Given the description of an element on the screen output the (x, y) to click on. 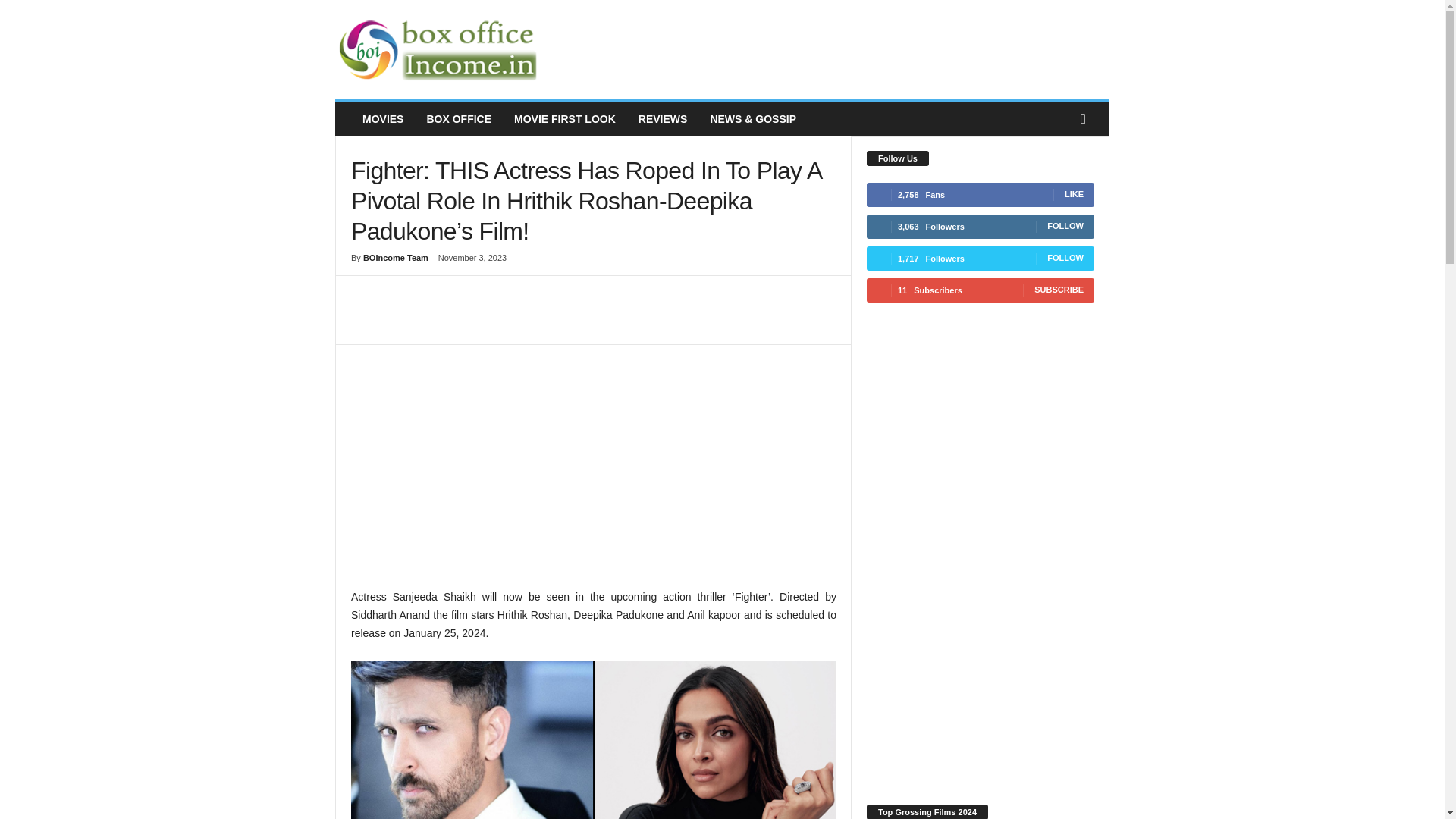
MOVIES (382, 118)
MOVIE FIRST LOOK (564, 118)
BOX OFFICE (458, 118)
REVIEWS (662, 118)
Advertisement (592, 473)
topFacebookLike (390, 291)
